Given the description of an element on the screen output the (x, y) to click on. 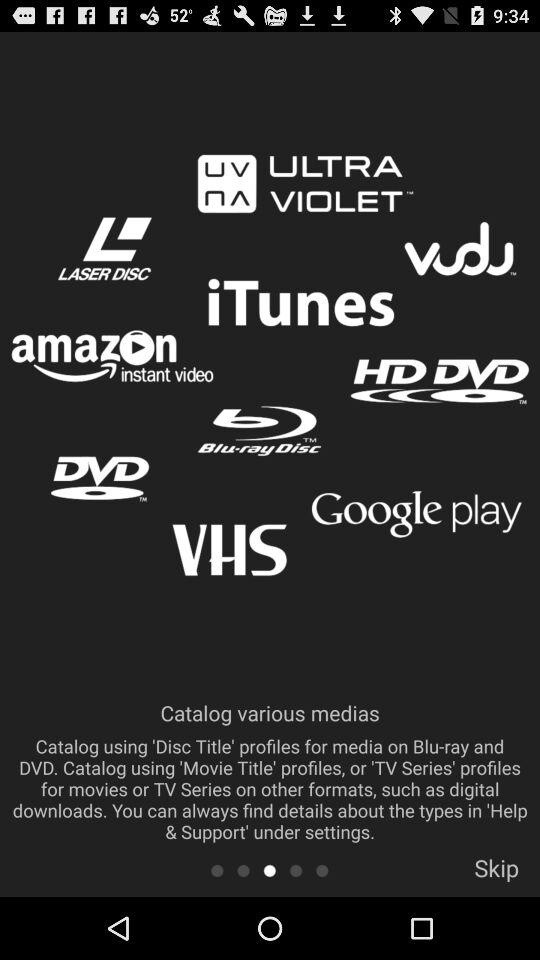
toggle loading option (269, 870)
